Given the description of an element on the screen output the (x, y) to click on. 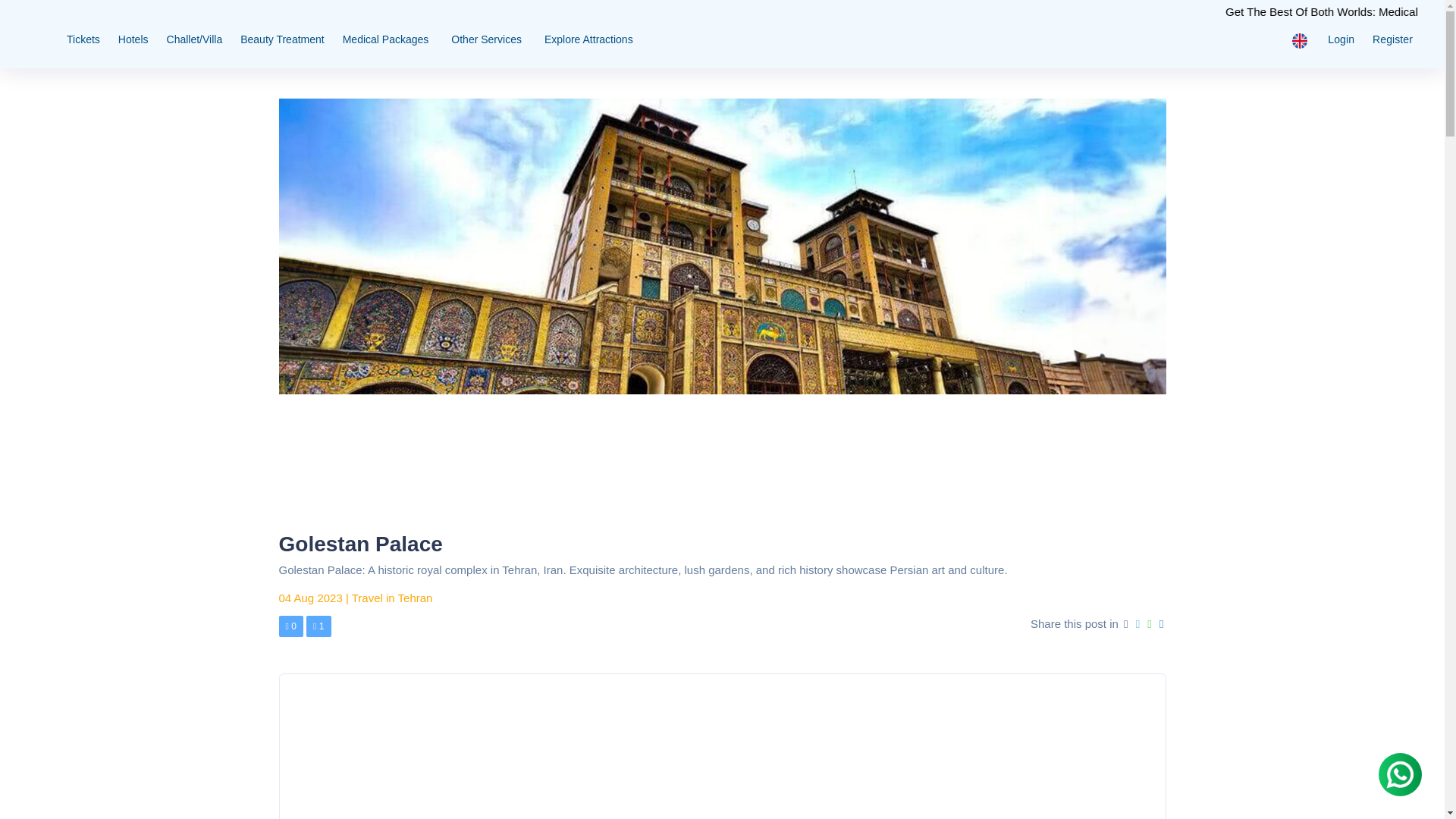
Tickets (83, 39)
Medical Packages (387, 39)
1 (317, 626)
Register (1392, 39)
Hotels (133, 39)
Beauty Treatment (282, 39)
Explore Attractions (588, 39)
Tickets (83, 39)
Hotels (133, 39)
Other Services (488, 39)
